Given the description of an element on the screen output the (x, y) to click on. 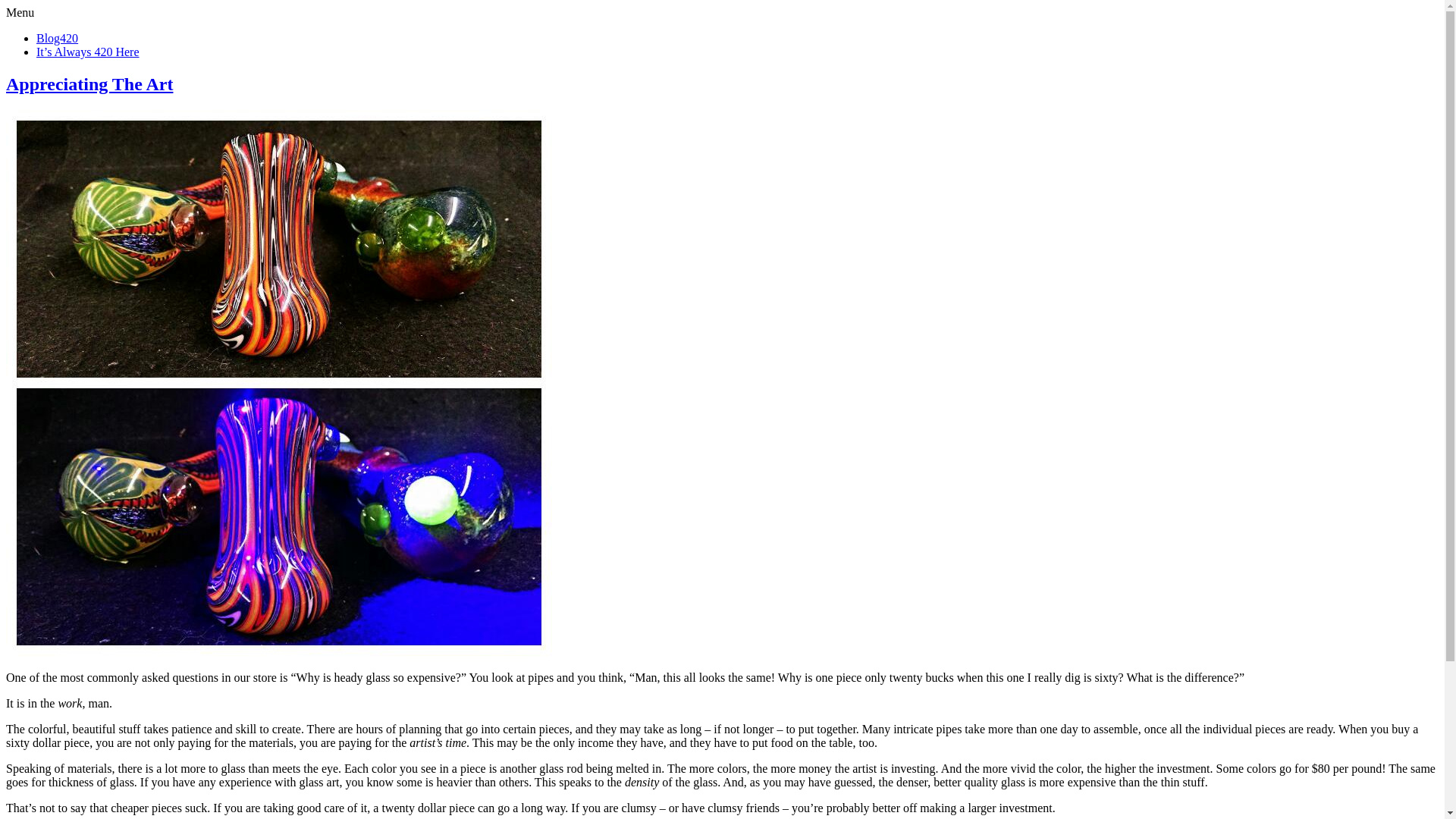
Appreciating The Art Element type: text (89, 84)
Blog420 Element type: text (57, 37)
